Given the description of an element on the screen output the (x, y) to click on. 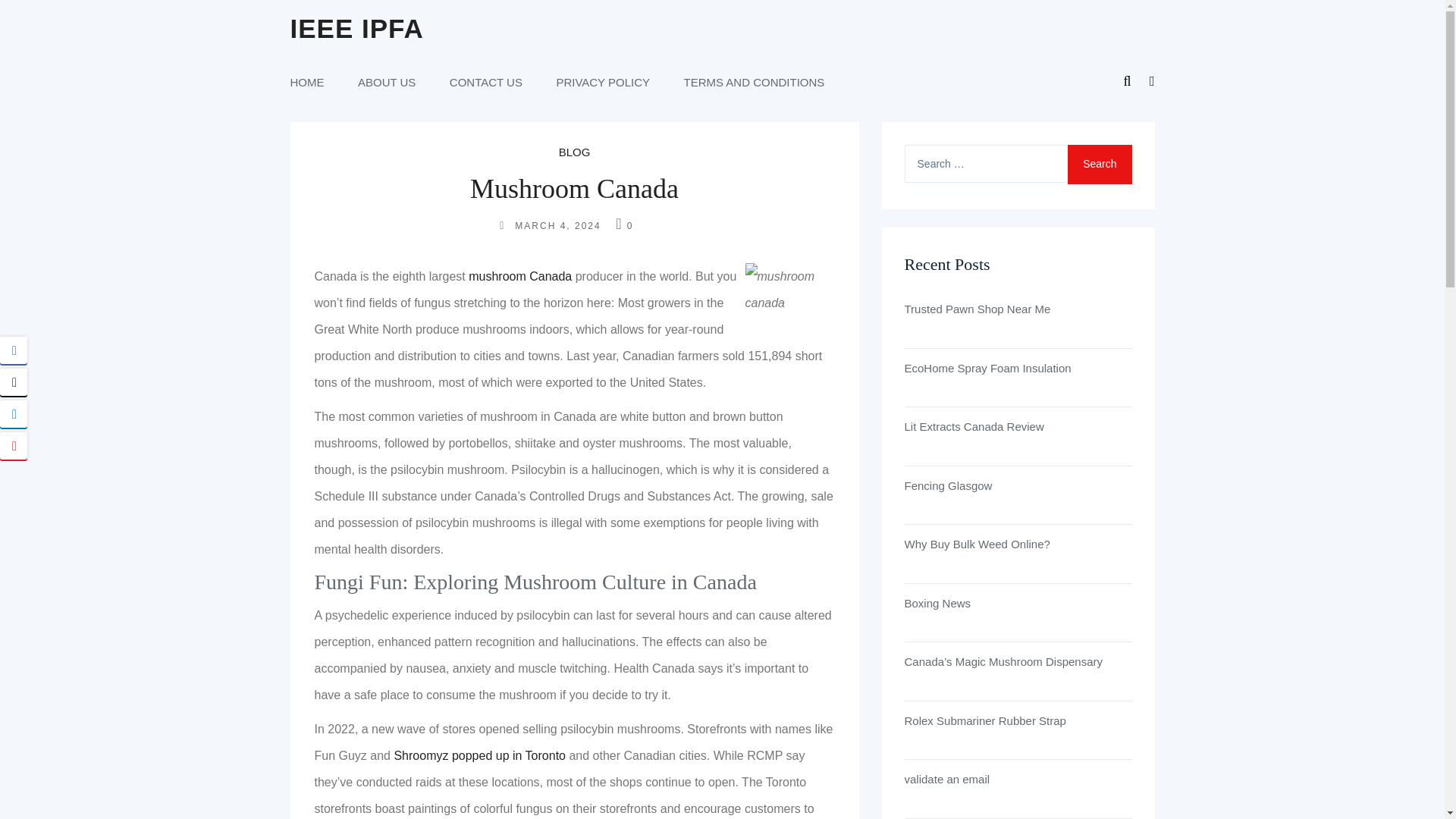
validate an email (1018, 779)
TERMS AND CONDITIONS (754, 82)
BLOG (575, 151)
Lit Extracts Canada Review (1018, 426)
Search (1099, 164)
Trusted Pawn Shop Near Me (1018, 309)
mushroom Canada (520, 276)
Search (1099, 164)
Search (1099, 164)
CONTACT US (485, 82)
